Given the description of an element on the screen output the (x, y) to click on. 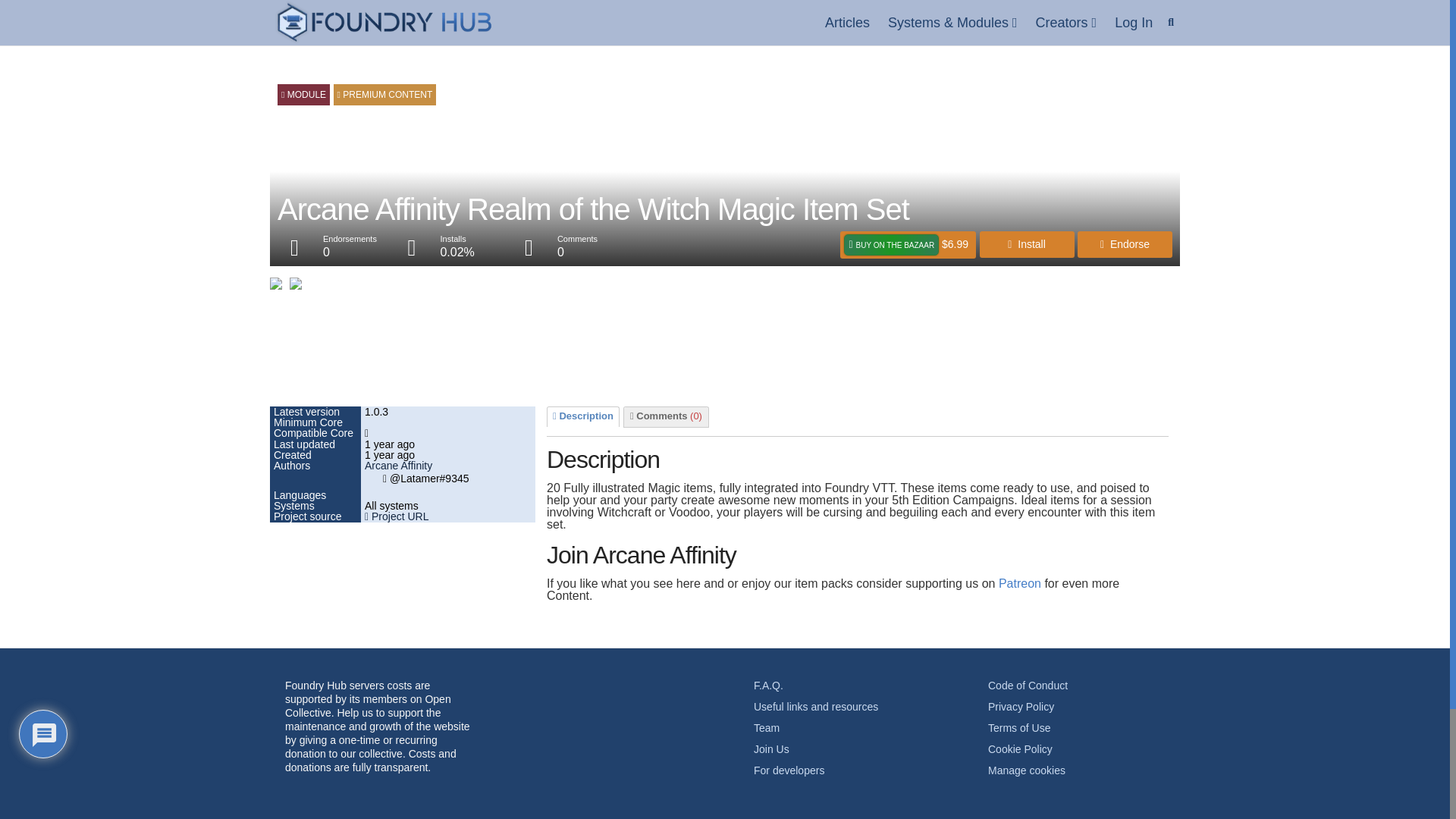
Endorse (1124, 243)
Creators (1066, 22)
For developers (789, 770)
Foundry Hub (383, 22)
Install (1026, 243)
Tuesday 14th of March 2023 03:04:22 PM UTC (448, 454)
Sunday 25th of June 2023 06:19:05 PM UTC (448, 443)
F.A.Q. (768, 685)
Join Us (771, 748)
Privacy Policy (1021, 706)
